Given the description of an element on the screen output the (x, y) to click on. 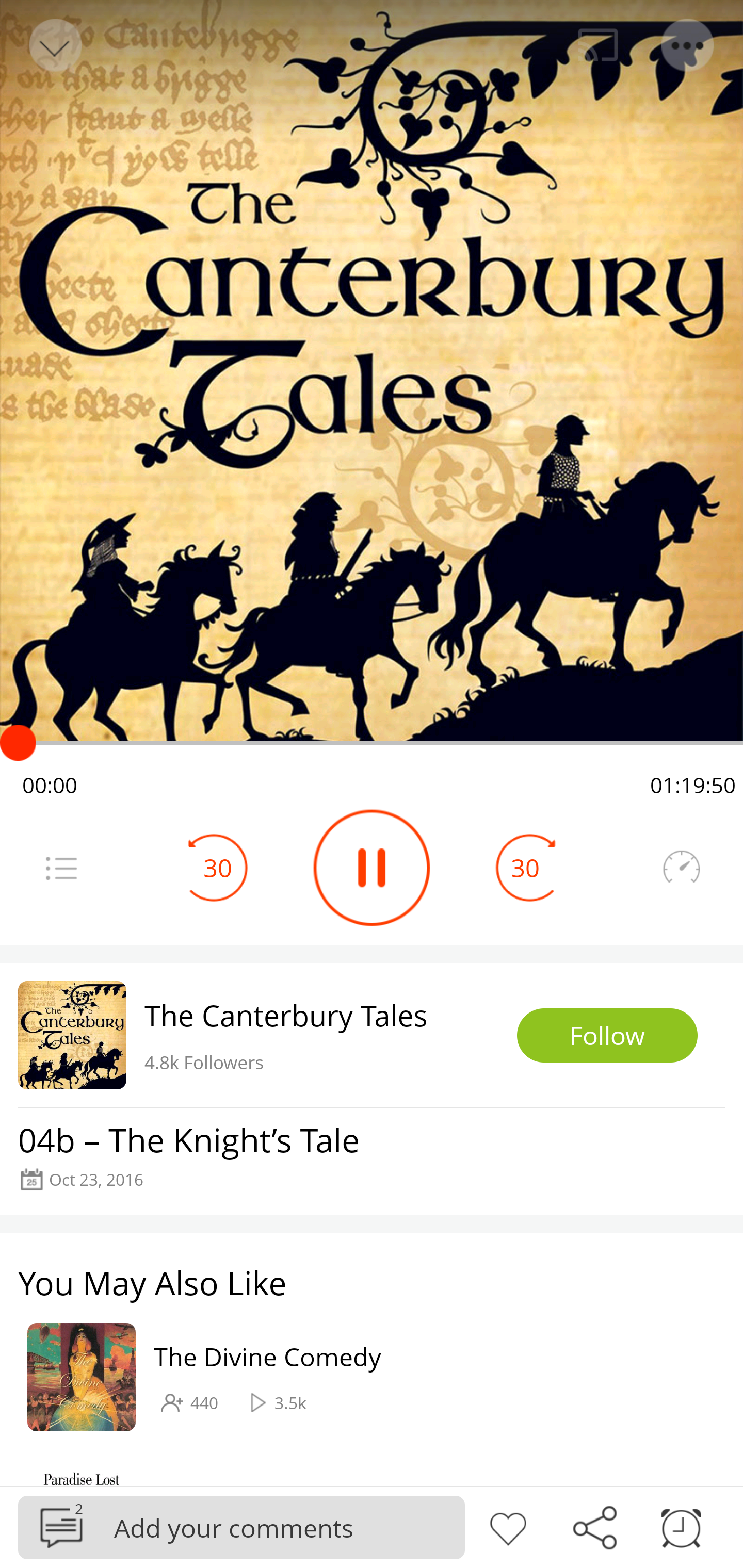
Back (53, 45)
Cast. Disconnected (597, 45)
Menu (688, 45)
Play (371, 867)
30 Seek Backward (217, 867)
30 Seek Forward (525, 867)
Menu (60, 867)
Speedometer (681, 867)
The Canterbury Tales 4.8k Followers Follow (371, 1034)
Follow (607, 1035)
The Divine Comedy 440 3.5k (362, 1376)
Like (508, 1526)
Share (594, 1526)
Sleep timer (681, 1526)
Podbean 2 Add your comments (241, 1526)
